Given the description of an element on the screen output the (x, y) to click on. 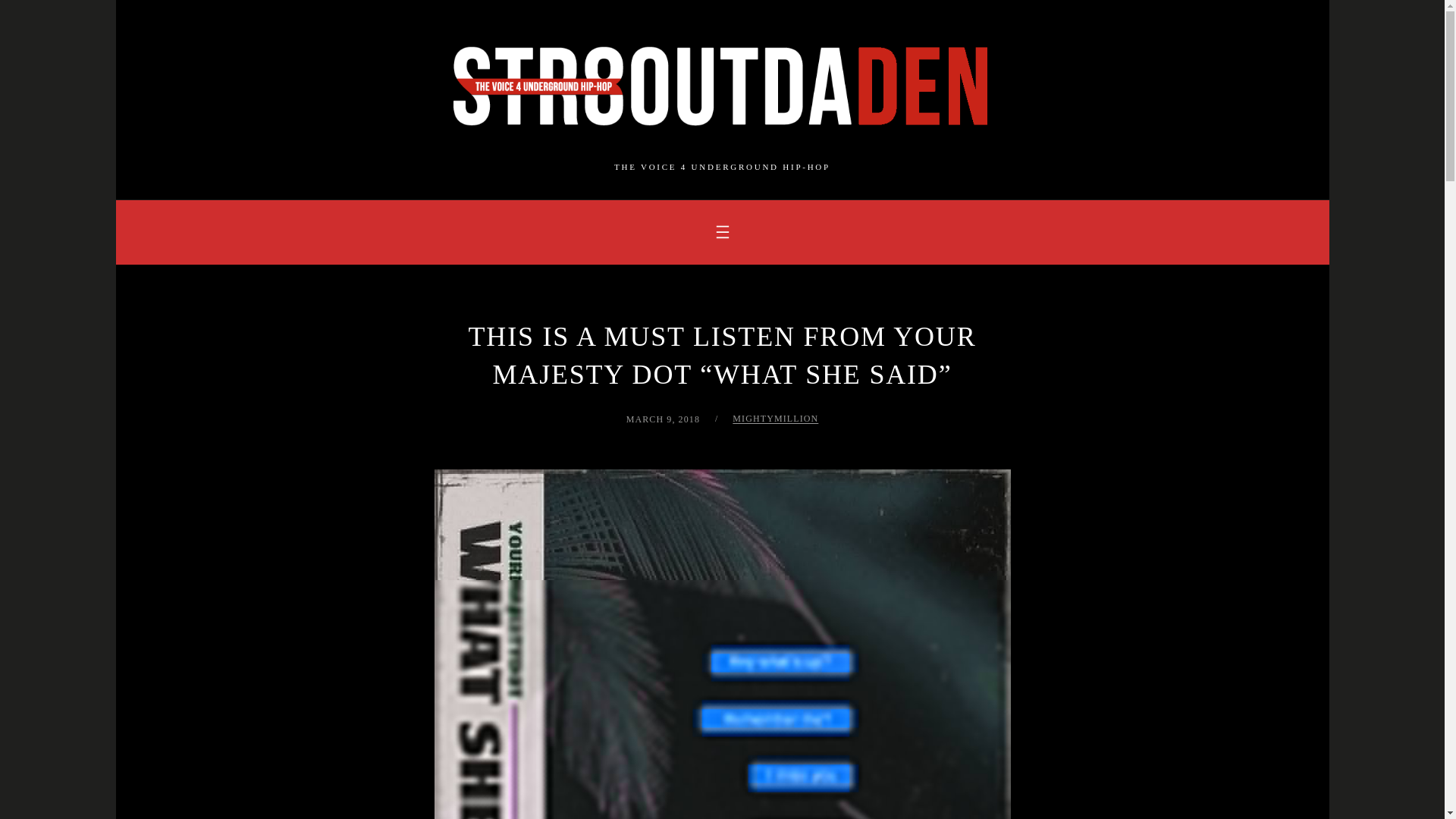
MIGHTYMILLION (775, 418)
